Given the description of an element on the screen output the (x, y) to click on. 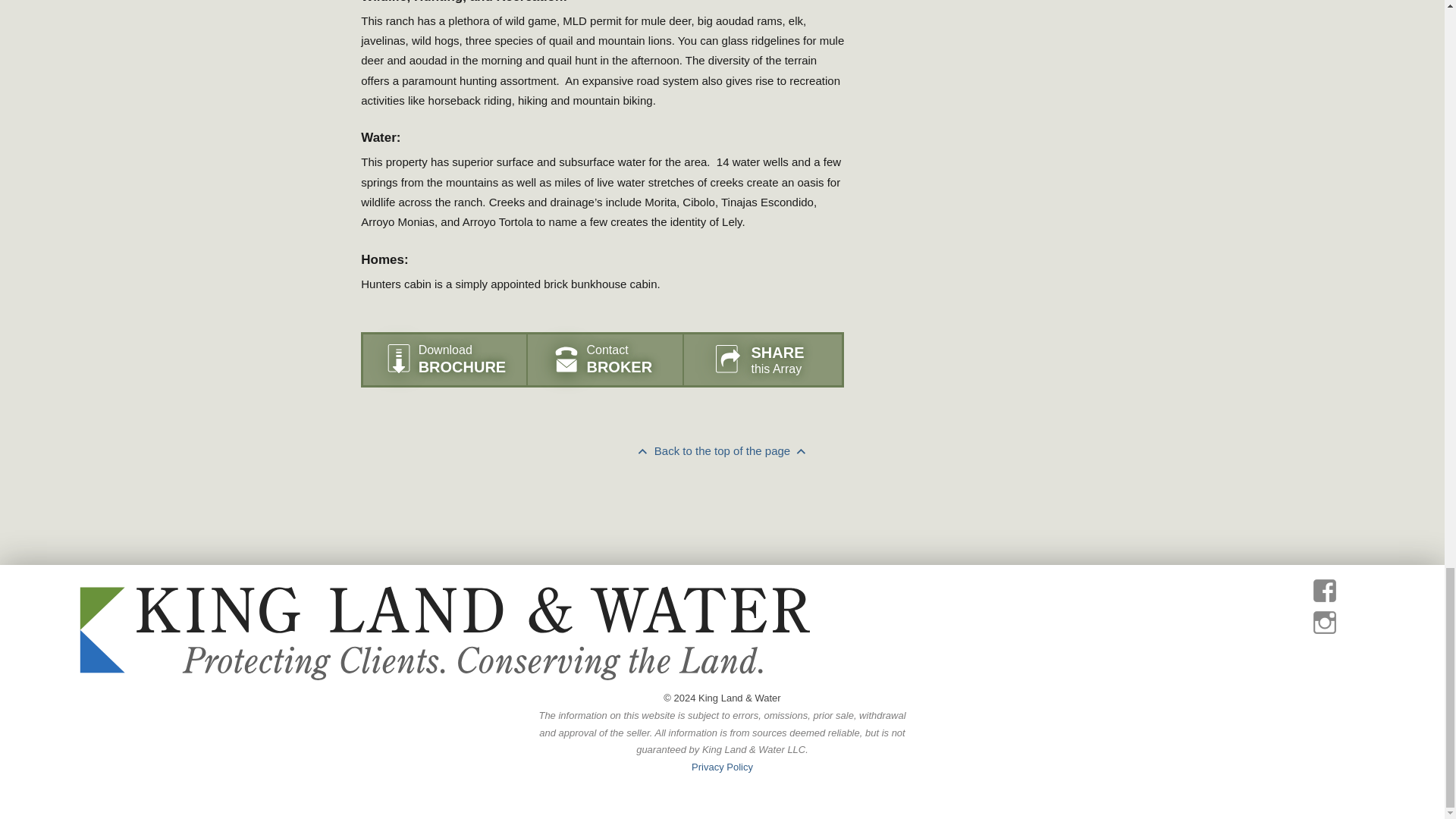
Email (790, 530)
Facebook (765, 530)
Twitter (777, 530)
